Given the description of an element on the screen output the (x, y) to click on. 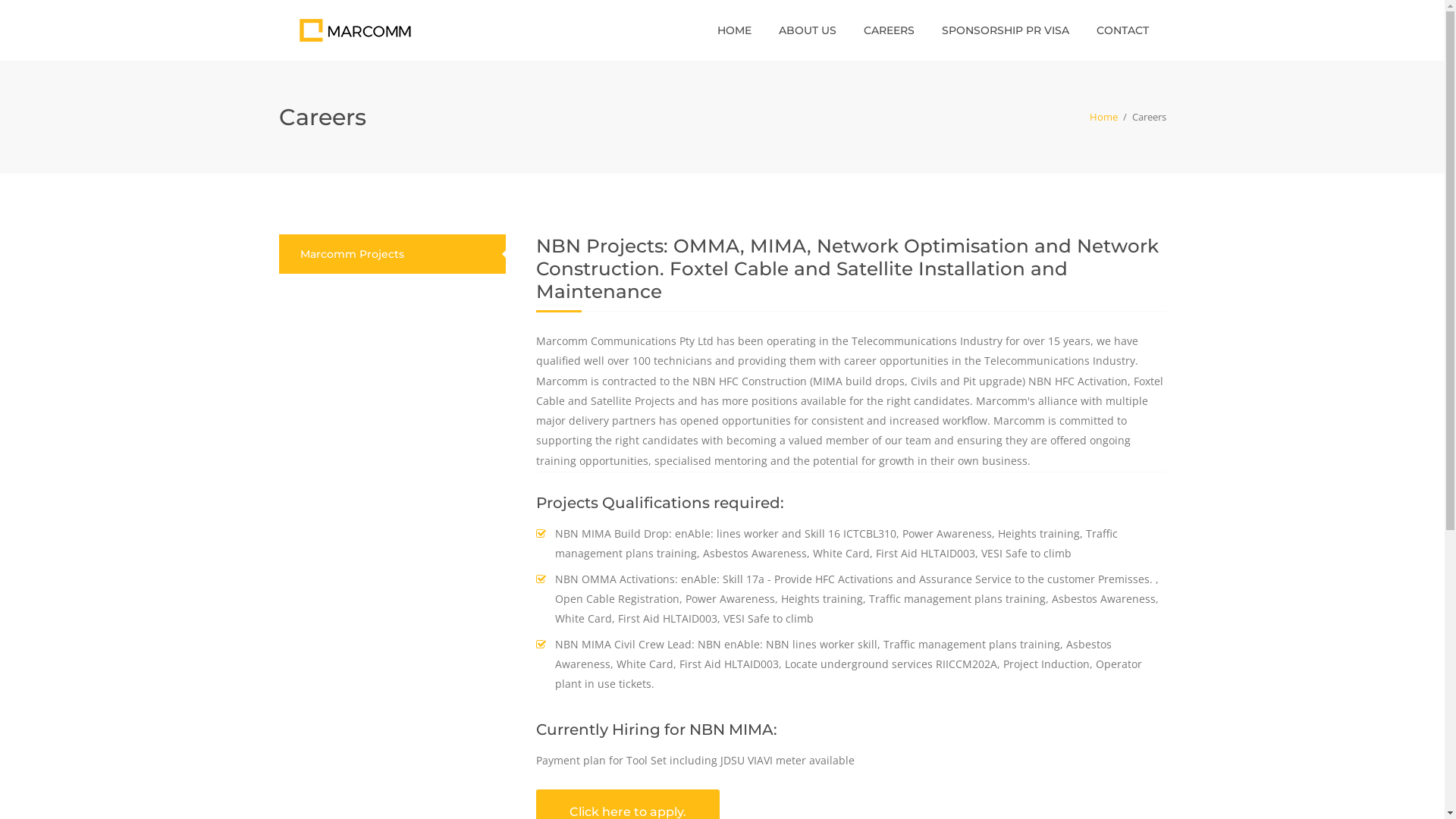
ABOUT US Element type: text (806, 30)
HOME Element type: text (734, 30)
CAREERS Element type: text (887, 30)
SPONSORSHIP PR VISA Element type: text (1005, 30)
Marcomm Projects Element type: text (352, 253)
CONTACT Element type: text (1122, 30)
Marcomm Element type: hover (354, 28)
Home Element type: text (1102, 116)
